Given the description of an element on the screen output the (x, y) to click on. 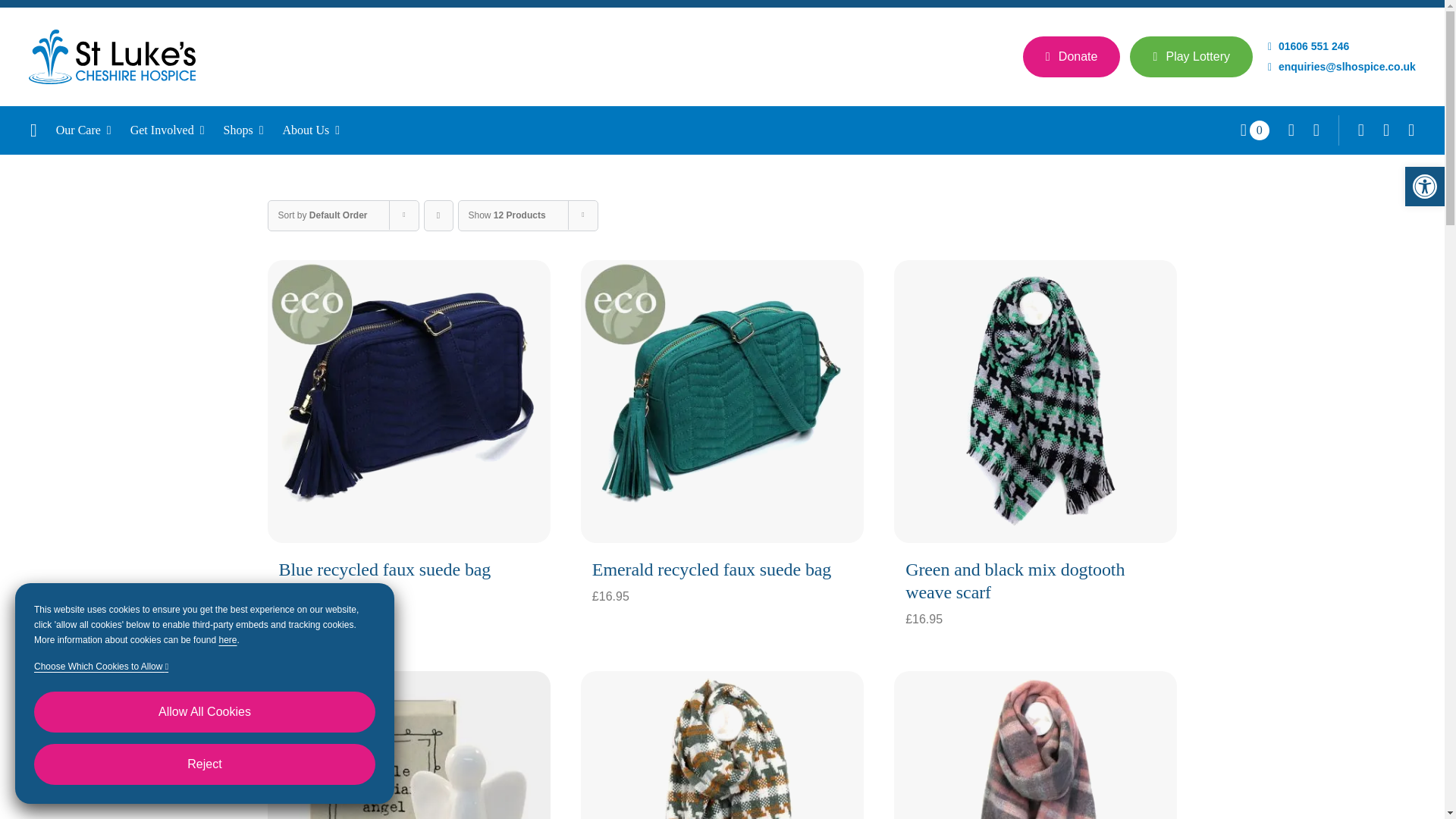
Our Care (93, 130)
Play Lottery (1190, 56)
01606 551 246 (1308, 46)
Search (1316, 130)
Donate (1072, 56)
Accessibility Tools (1424, 186)
